Given the description of an element on the screen output the (x, y) to click on. 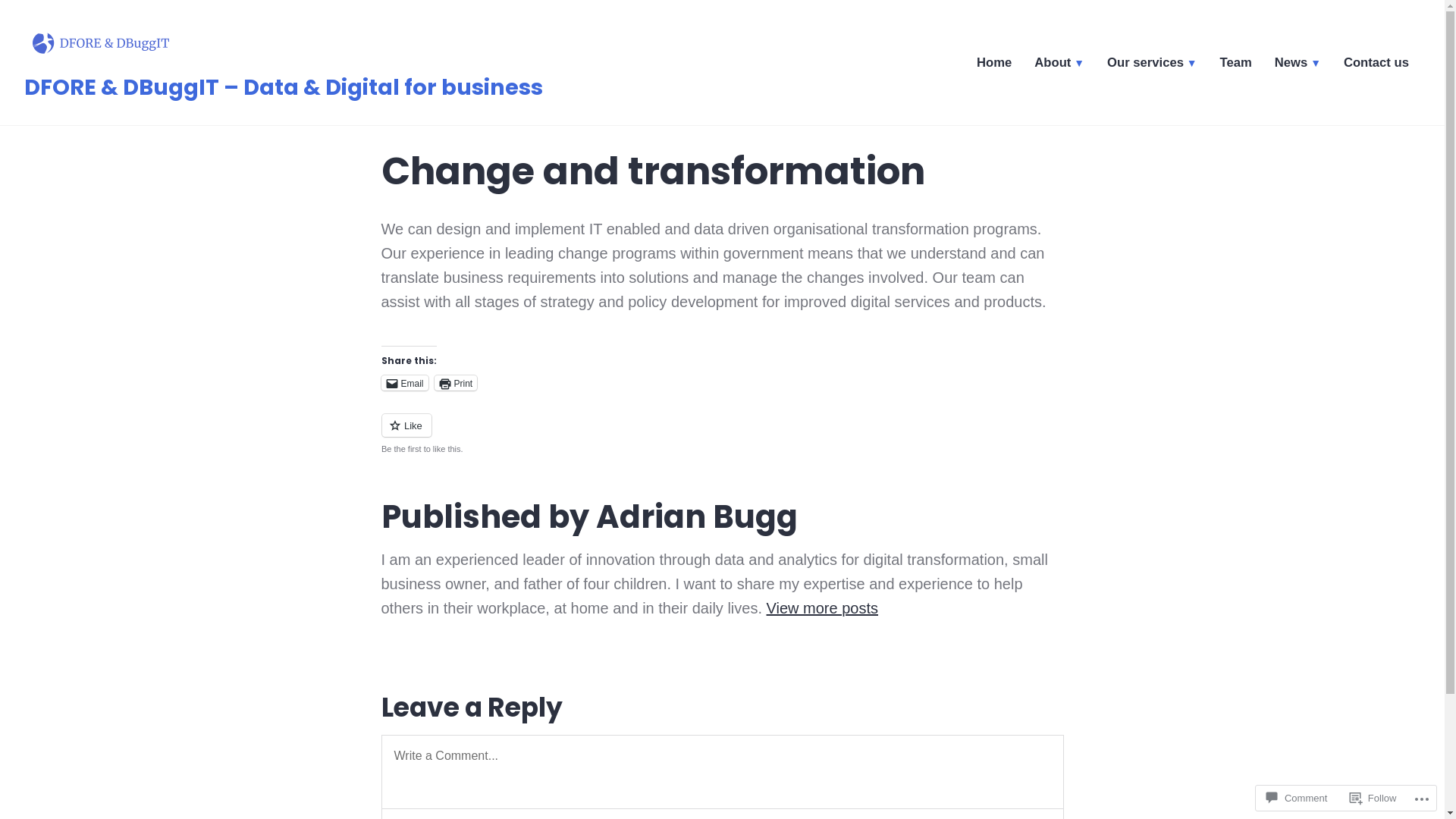
Our services Element type: text (1152, 64)
Like or Reblog Element type: hover (721, 434)
Email Element type: text (403, 382)
Print Element type: text (455, 382)
Comment Element type: text (1296, 797)
Team Element type: text (1236, 64)
Follow Element type: text (1372, 797)
View more posts Element type: text (822, 607)
Contact us Element type: text (1375, 64)
About Element type: text (1059, 64)
Home Element type: text (993, 64)
News Element type: text (1297, 64)
